Given the description of an element on the screen output the (x, y) to click on. 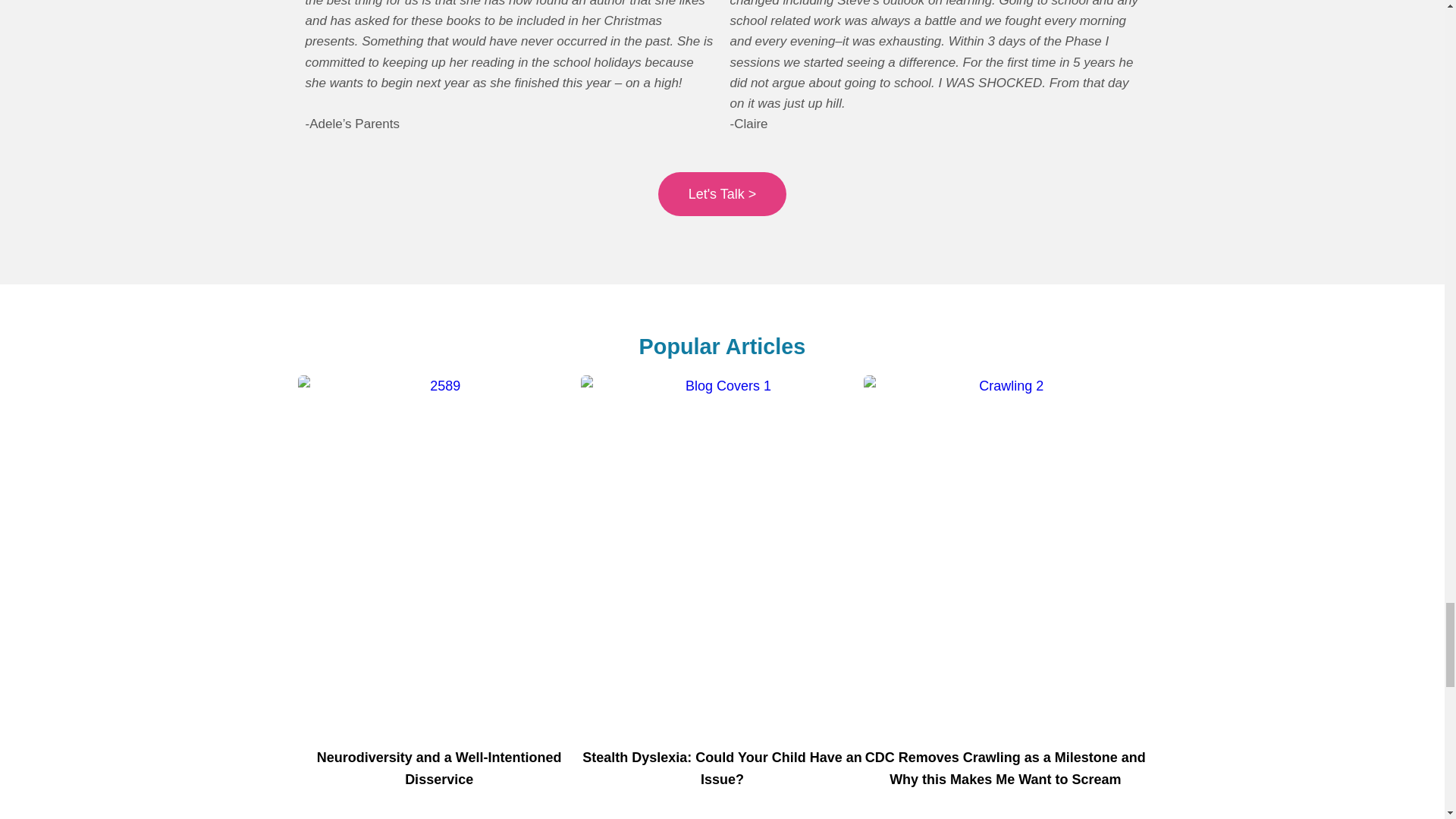
Neurodiversity and a Well-Intentioned Disservice (439, 768)
Stealth Dyslexia: Could Your Child Have an Issue? (721, 768)
